Given the description of an element on the screen output the (x, y) to click on. 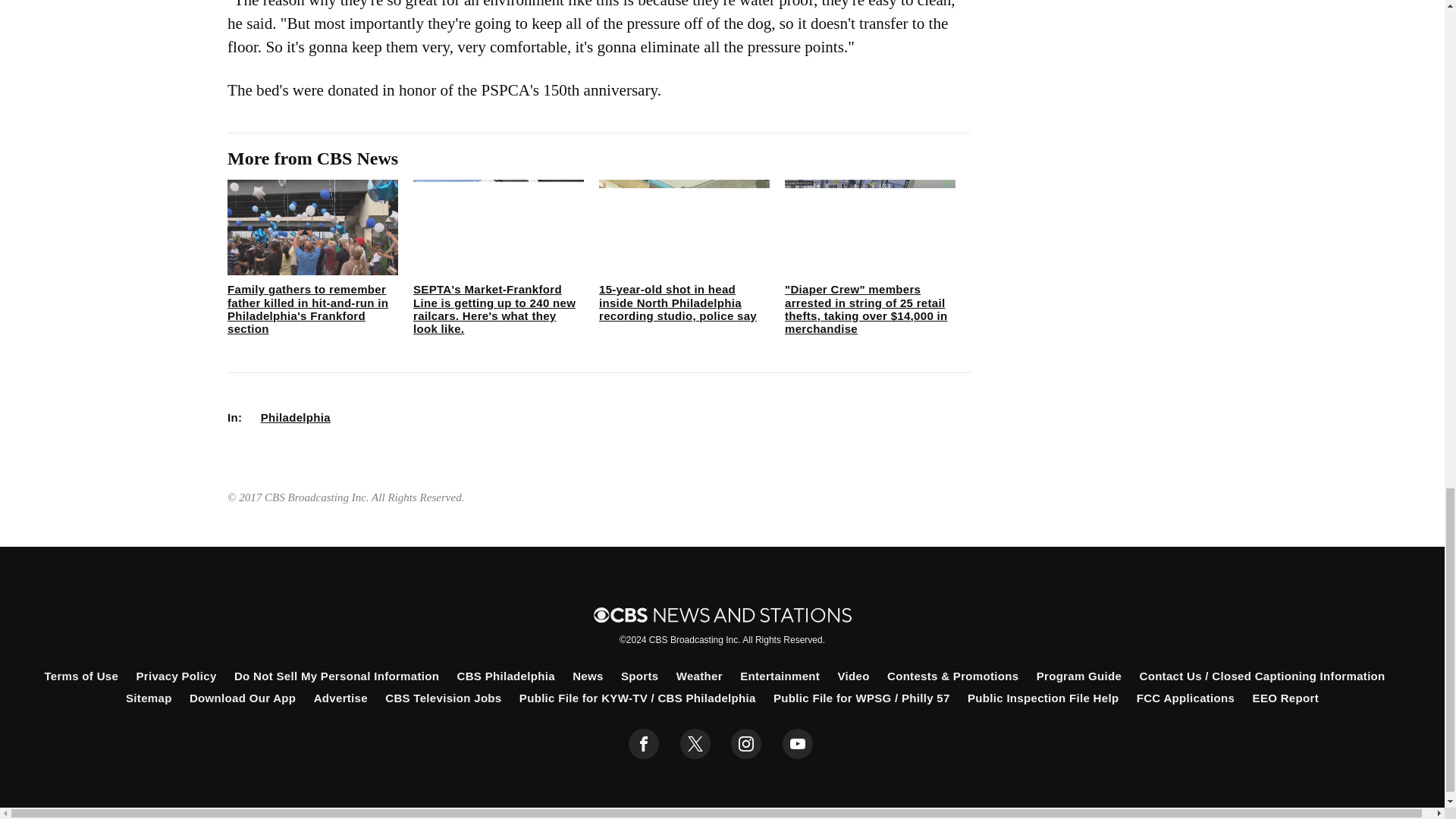
facebook (643, 743)
twitter (694, 743)
youtube (797, 743)
instagram (745, 743)
